Given the description of an element on the screen output the (x, y) to click on. 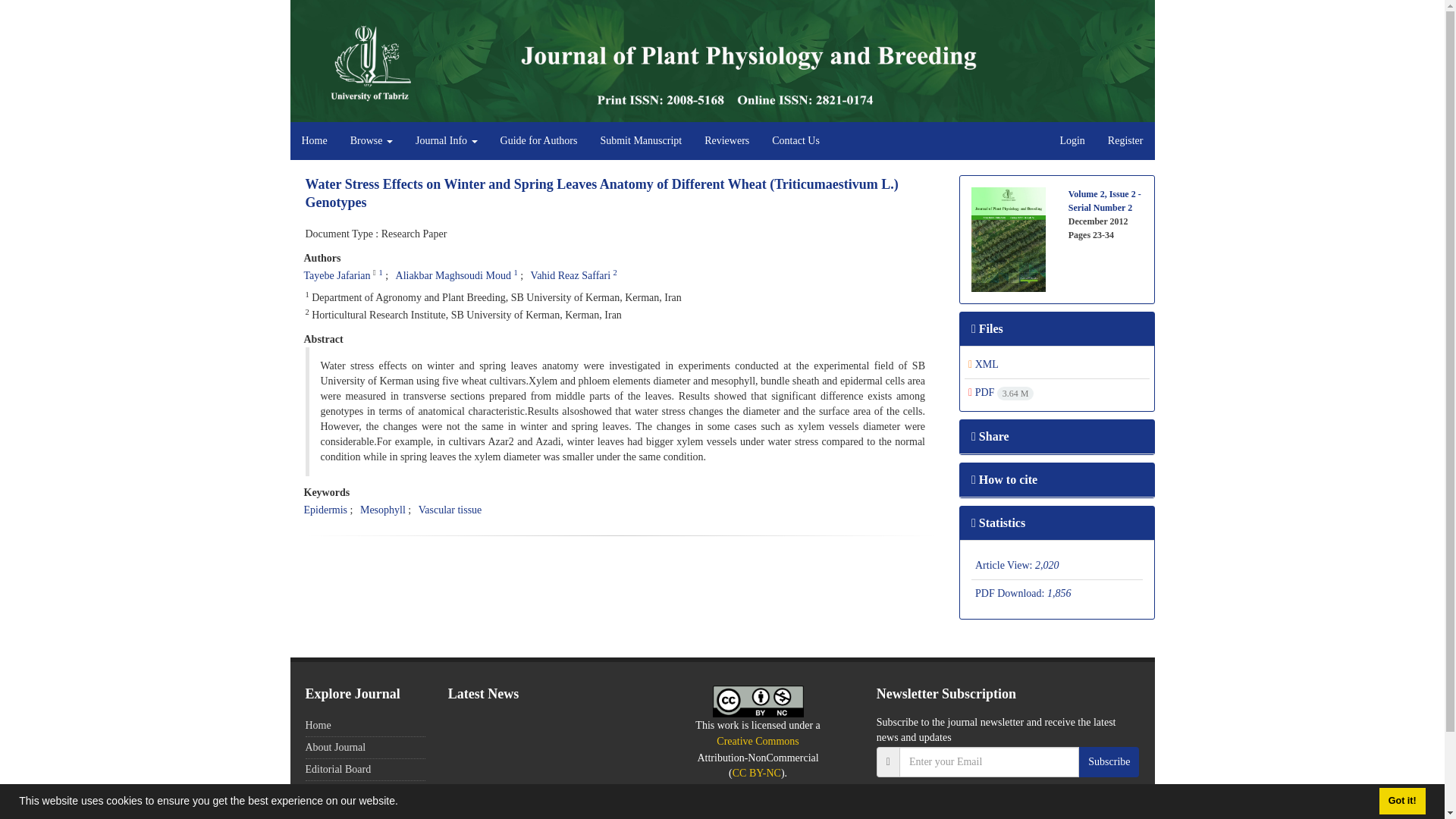
Got it! (1401, 800)
Mesophyll (382, 509)
Home (313, 140)
Vascular tissue (450, 509)
Tayebe Jafarian (335, 275)
Reviewers (726, 140)
Contact Us (795, 140)
Volume 2, Issue 2 - Serial Number 2 (1104, 200)
Guide for Authors (539, 140)
Epidermis (324, 509)
Journal Info (446, 140)
Submit Manuscript (640, 140)
Login (1072, 140)
Browse (371, 140)
CC BY-NC (757, 701)
